Given the description of an element on the screen output the (x, y) to click on. 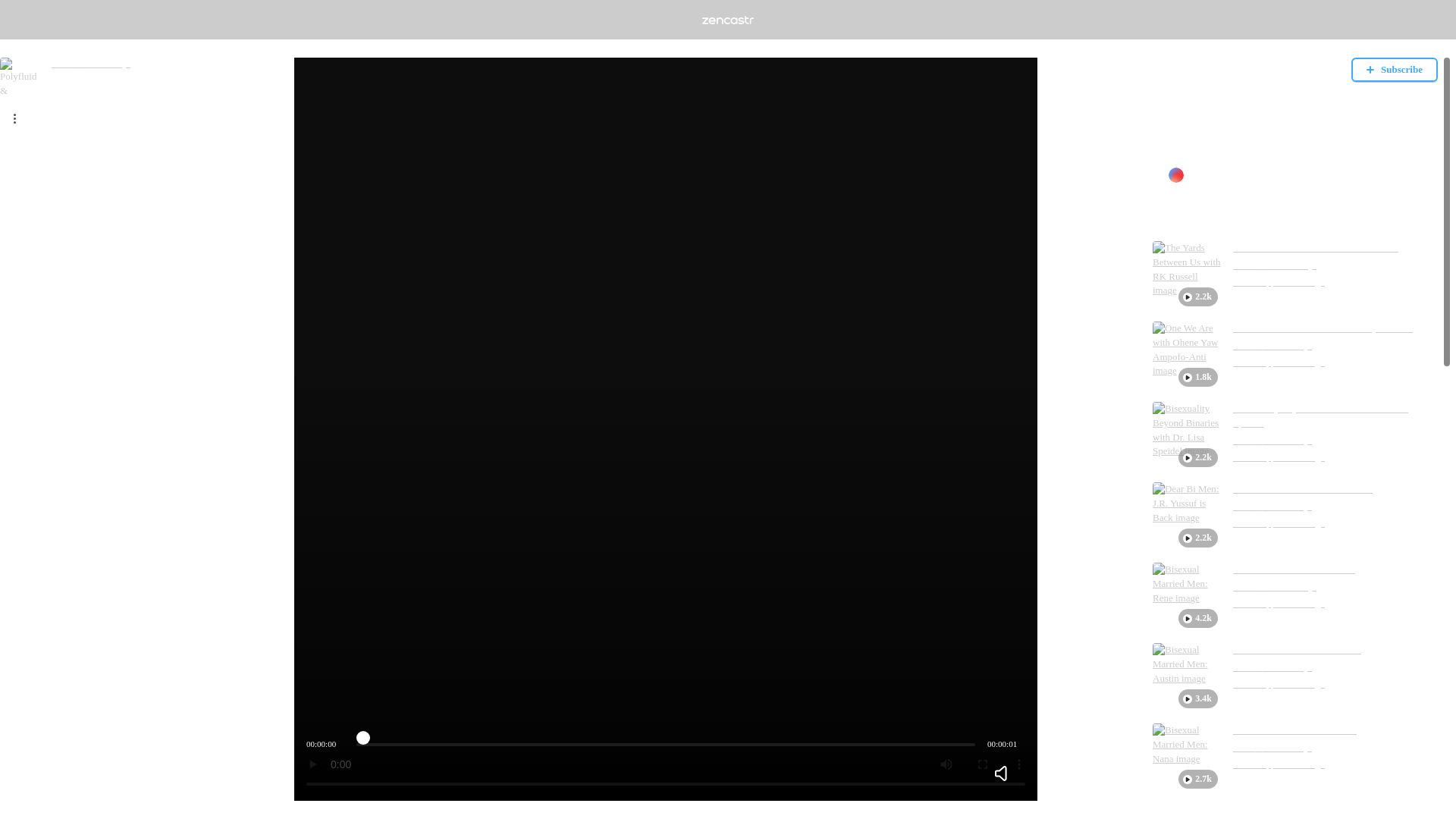
1.8k (1187, 355)
2.2k (1187, 274)
2.2k (1187, 516)
2.2k (1187, 436)
Bisexuality Beyond Binaries with Dr. Lisa Speidel (1335, 415)
Dear Bi Men: J.R. Yussuf is Back (1303, 489)
One We Are with Ohene Yaw Ampofo-Anti (1322, 328)
Show more (1176, 147)
The Yards Between Us with RK Russell (1315, 247)
Subscribe (1394, 69)
